Given the description of an element on the screen output the (x, y) to click on. 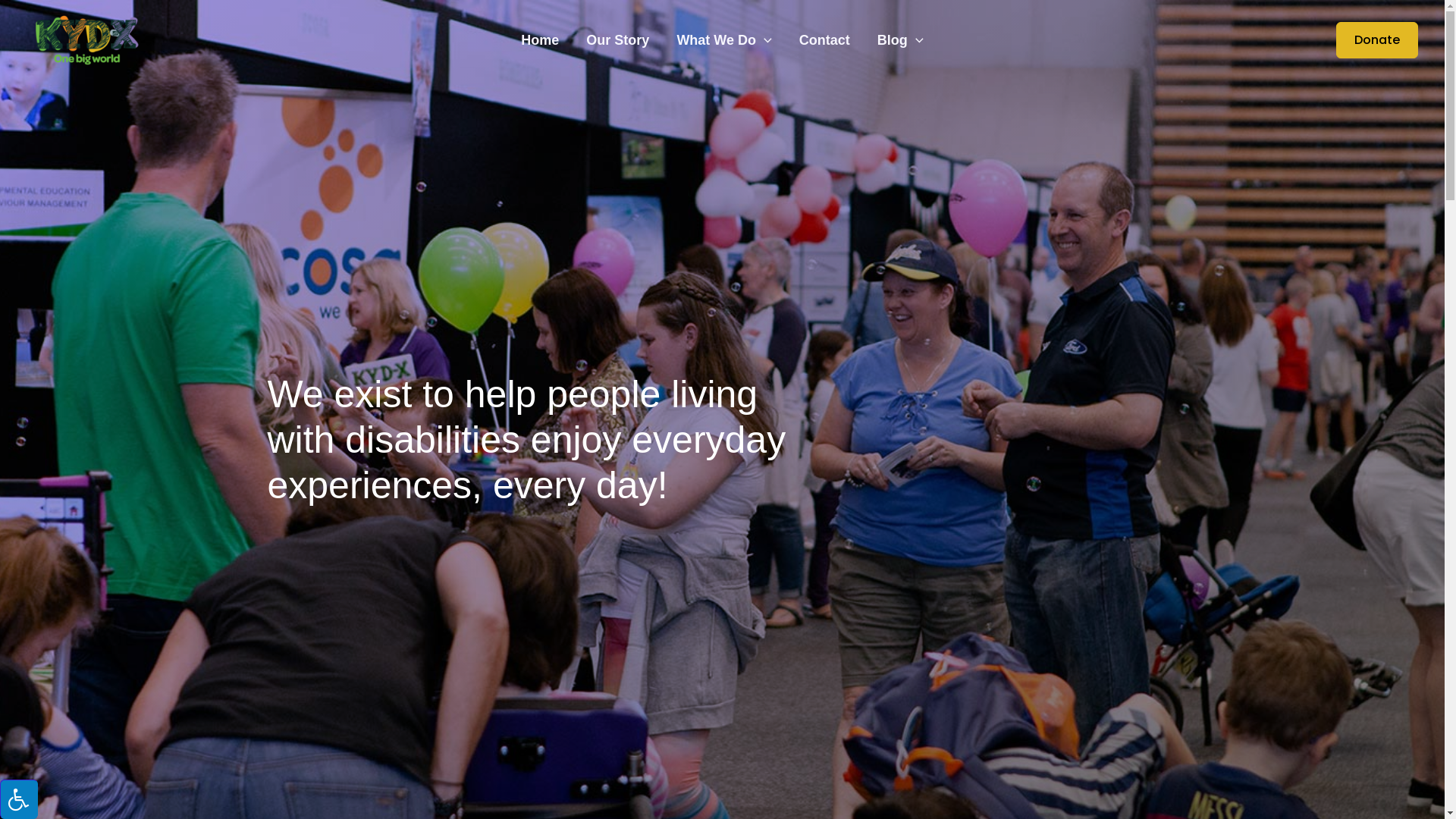
Our Story Element type: text (617, 39)
What We Do Element type: text (723, 39)
Blog Element type: text (900, 39)
Donate Element type: text (1367, 39)
Contact Element type: text (824, 39)
Home Element type: text (539, 39)
